Given the description of an element on the screen output the (x, y) to click on. 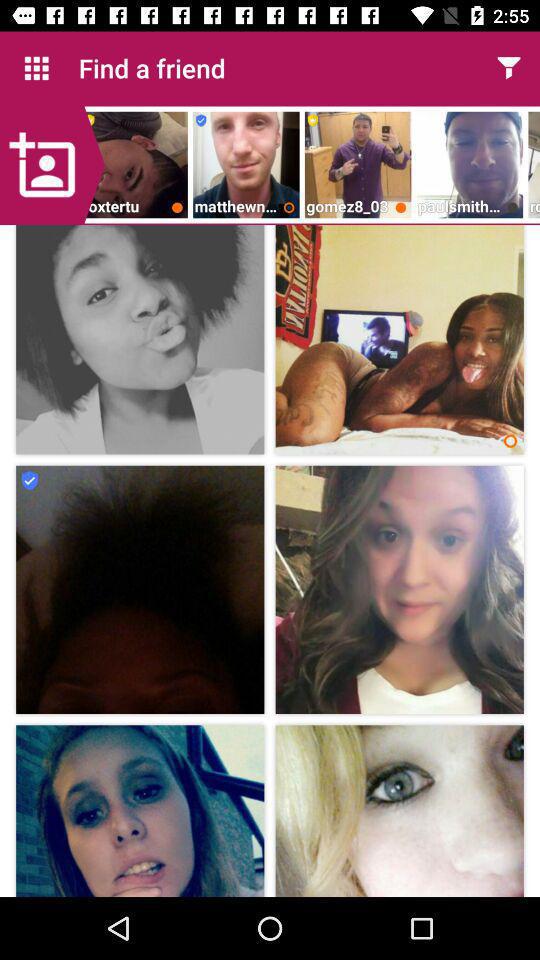
turn off the icon to the right of the find a friend item (508, 67)
